Given the description of an element on the screen output the (x, y) to click on. 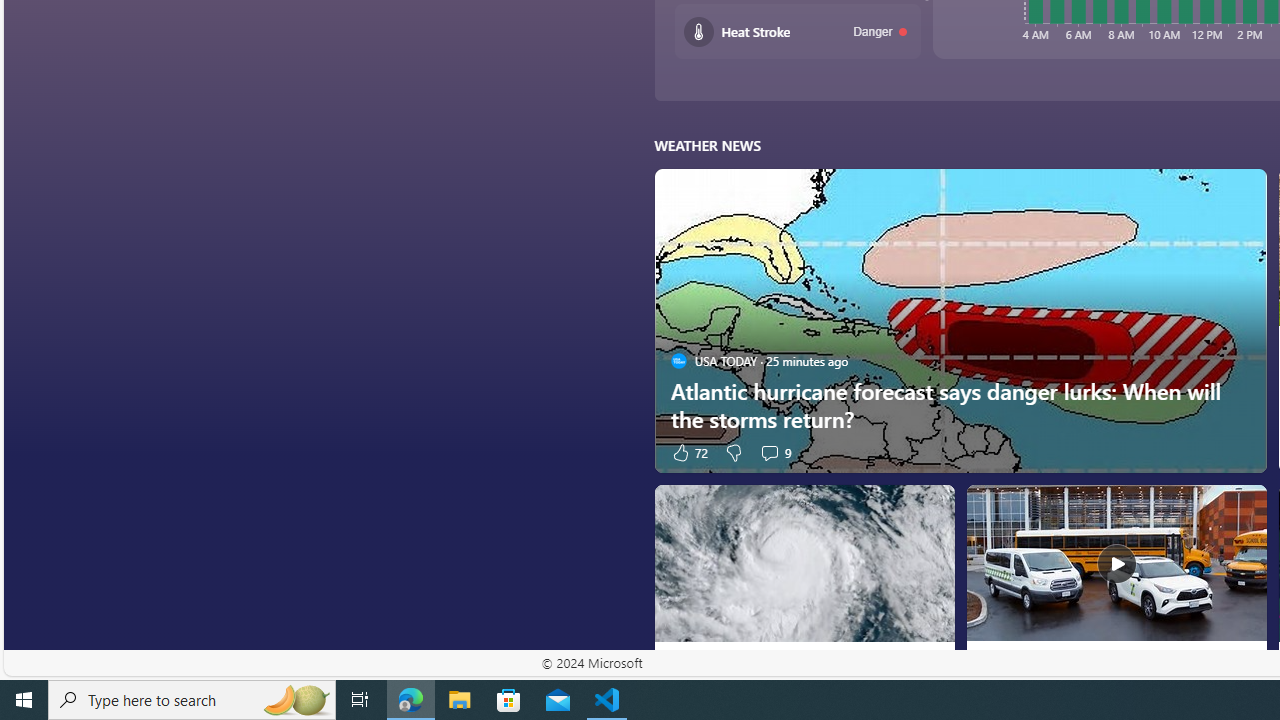
View comments 9 Comment (769, 452)
USA TODAY (678, 661)
View comments 9 Comment (774, 452)
Heat stroke Danger (797, 31)
AccuWeather (989, 661)
72 Like (688, 452)
